Given the description of an element on the screen output the (x, y) to click on. 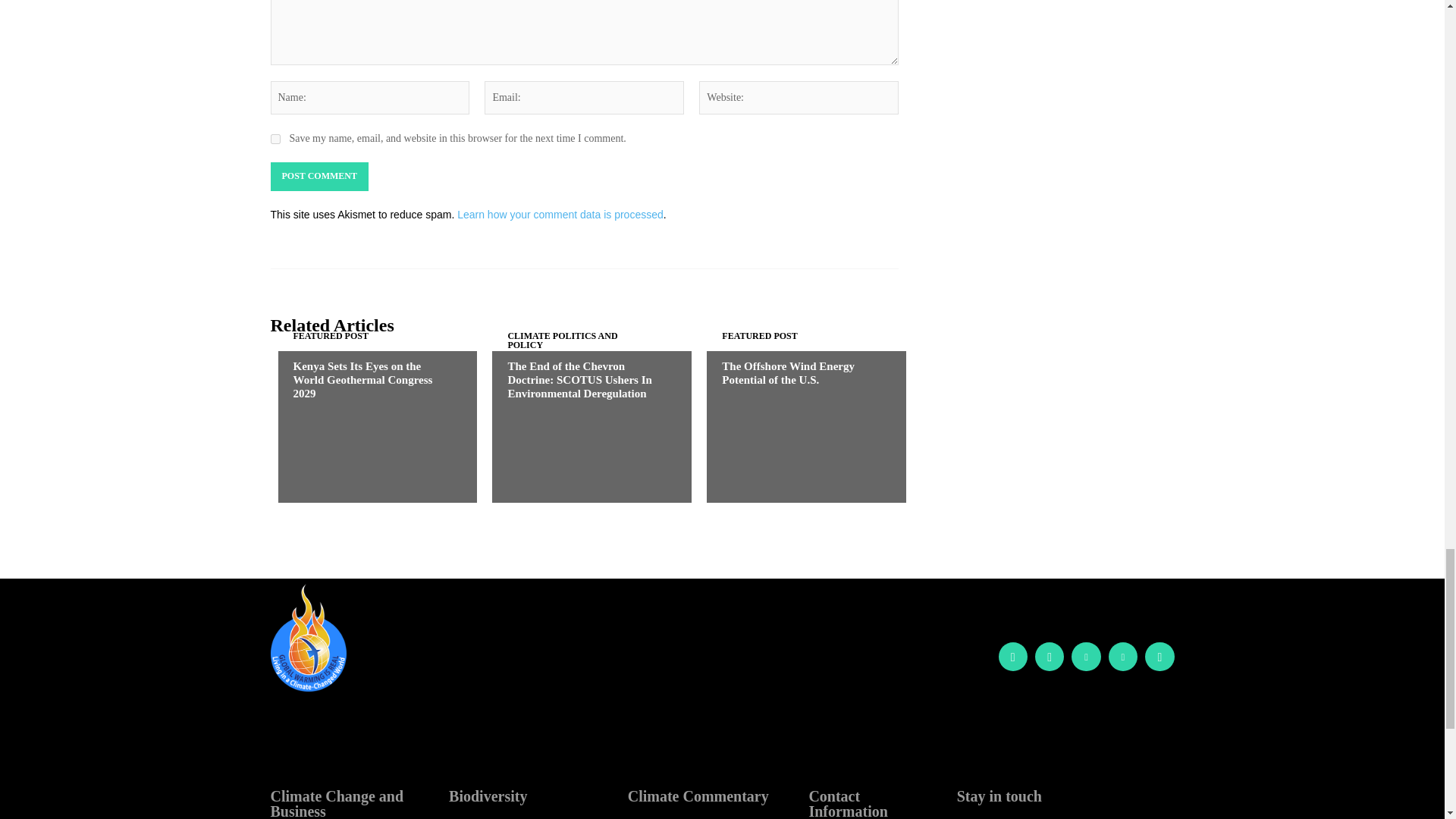
yes (274, 139)
Post Comment (318, 176)
